Given the description of an element on the screen output the (x, y) to click on. 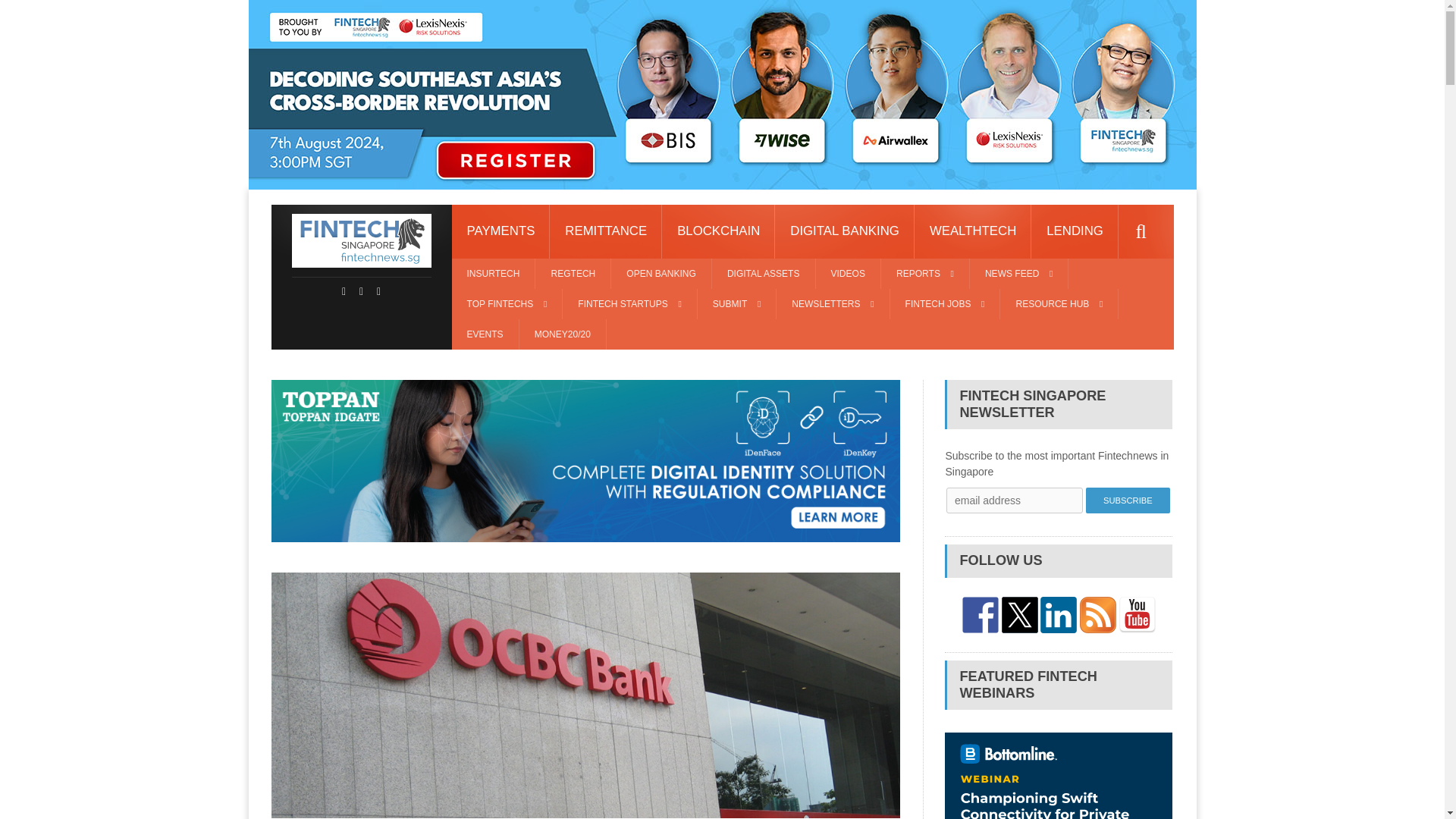
Follow us on Twitter (1018, 615)
Subscribe to our RSS Feed (1098, 615)
Follow us on Facebook (980, 615)
REPORTS (924, 273)
LENDING (1074, 231)
NEWS FEED (1018, 273)
Fintech Events Singapore (484, 334)
Find us on Linkedin (1059, 615)
PAYMENTS (500, 231)
VIDEOS (847, 273)
Search (1140, 231)
REGTECH (572, 273)
DIGITAL ASSETS (763, 273)
Find us on YouTube (1137, 615)
WEALTHTECH (972, 231)
